Given the description of an element on the screen output the (x, y) to click on. 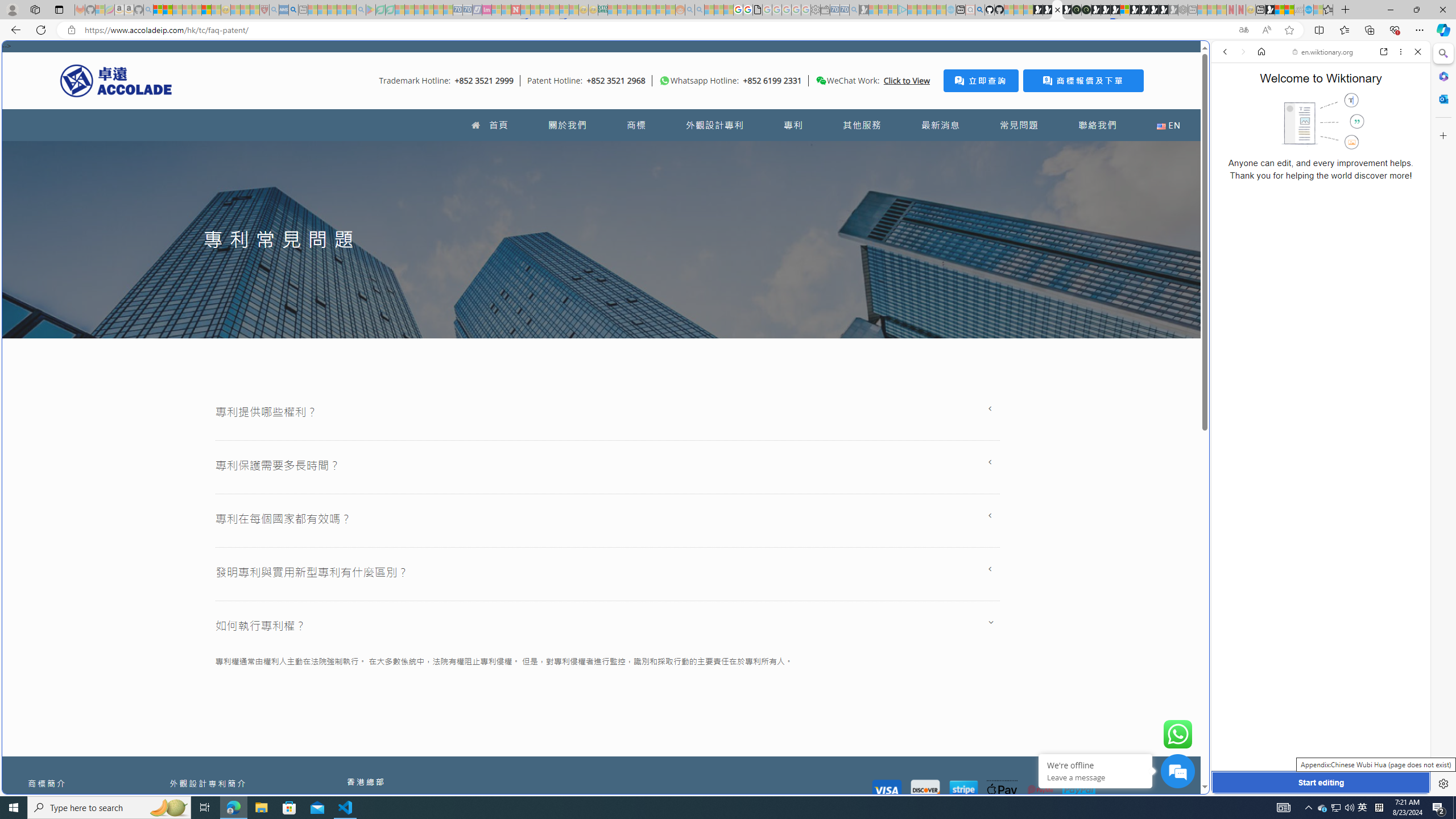
Tabs you've opened (885, 151)
